Given the description of an element on the screen output the (x, y) to click on. 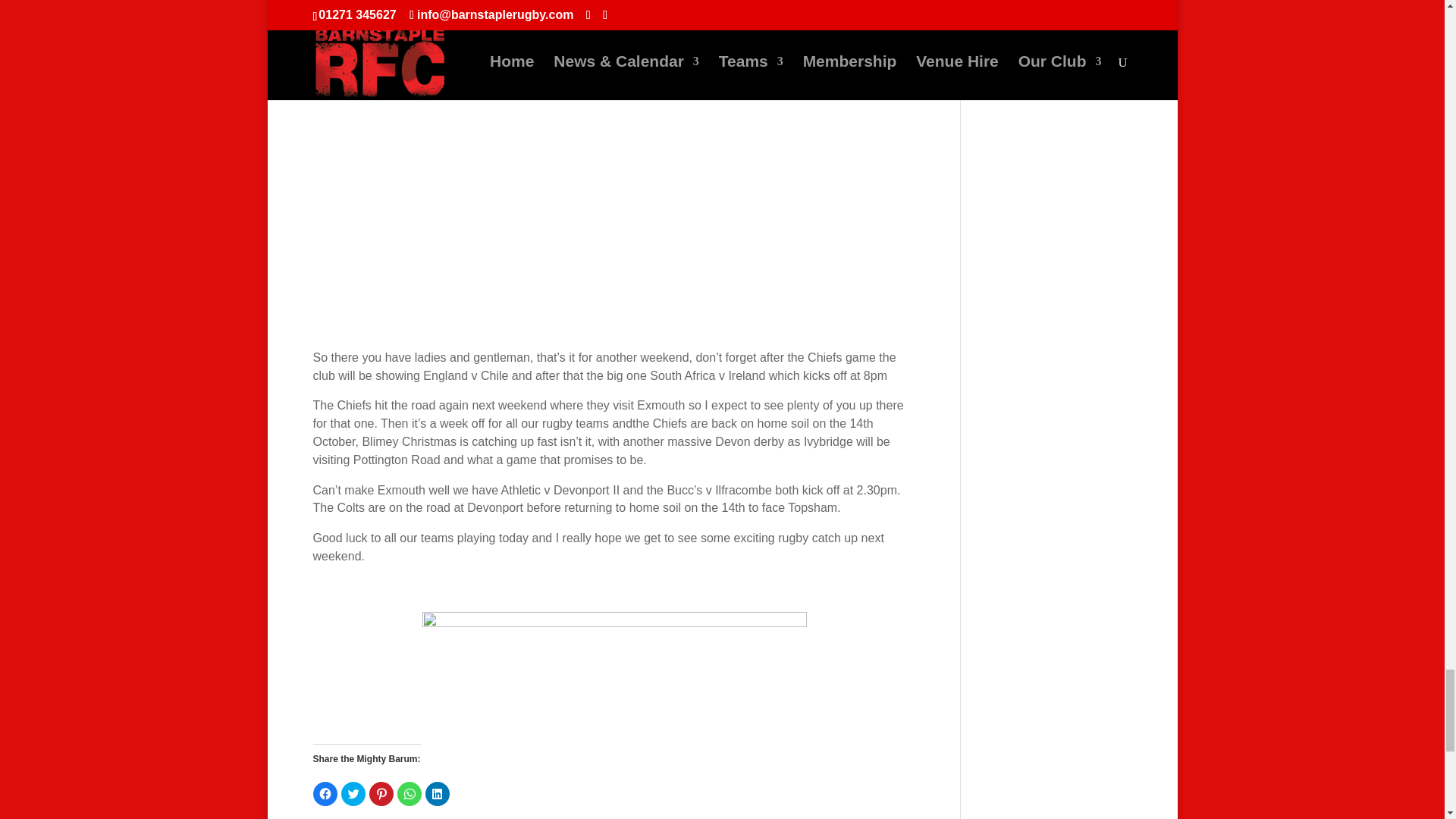
Click to share on WhatsApp (409, 793)
Click to share on Facebook (324, 793)
Click to share on Twitter (352, 793)
Click to share on Pinterest (380, 793)
Click to share on LinkedIn (436, 793)
